Given the description of an element on the screen output the (x, y) to click on. 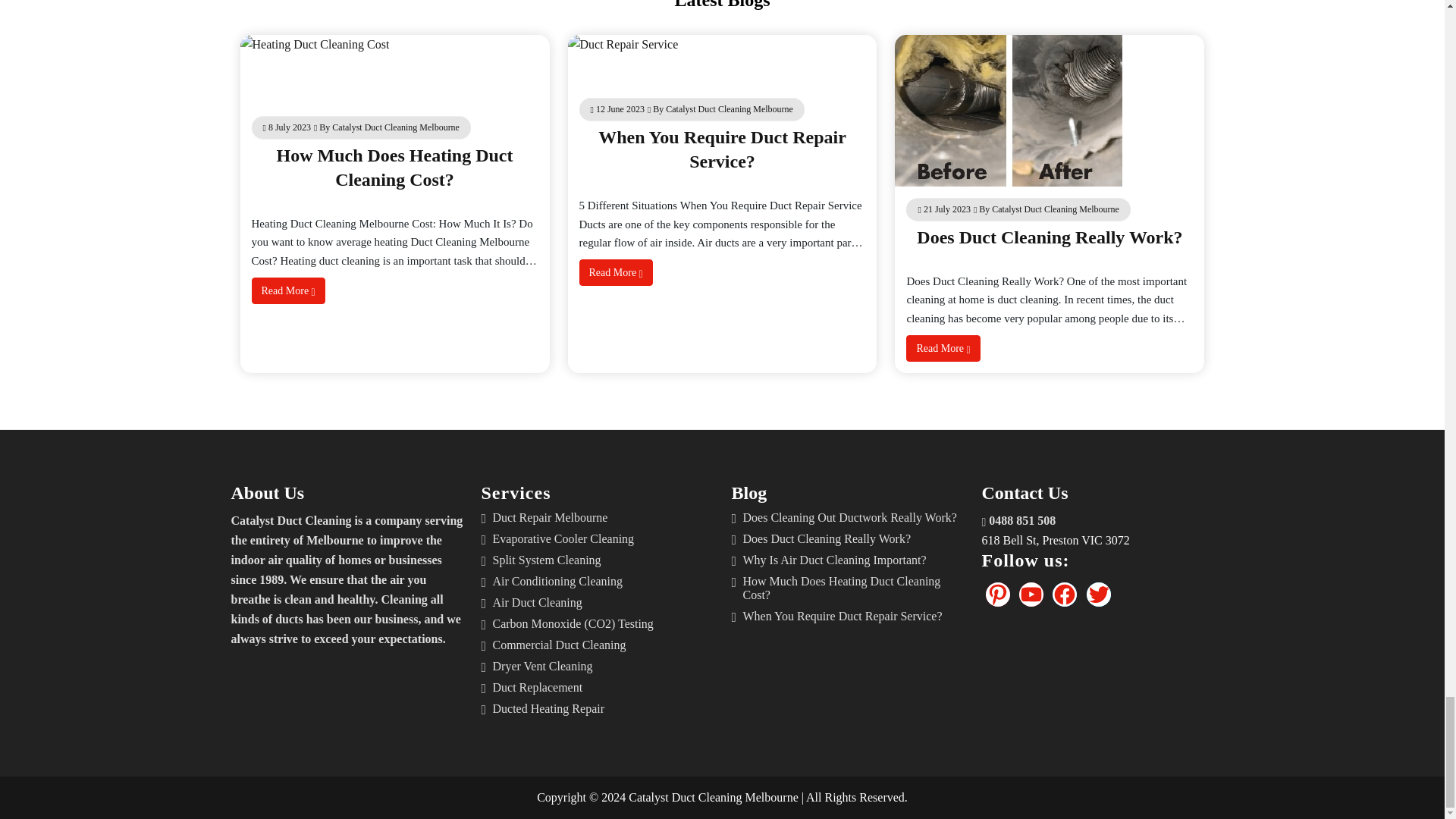
Read More (287, 290)
Does Duct Cleaning Really Work? (1049, 237)
How Much Does Heating Duct Cleaning Cost? (394, 167)
When You Require Duct Repair Service? (721, 149)
Read More (615, 272)
When You Require Duct Repair Service? (721, 149)
How Much Does Heating Duct Cleaning Cost? (394, 167)
